Given the description of an element on the screen output the (x, y) to click on. 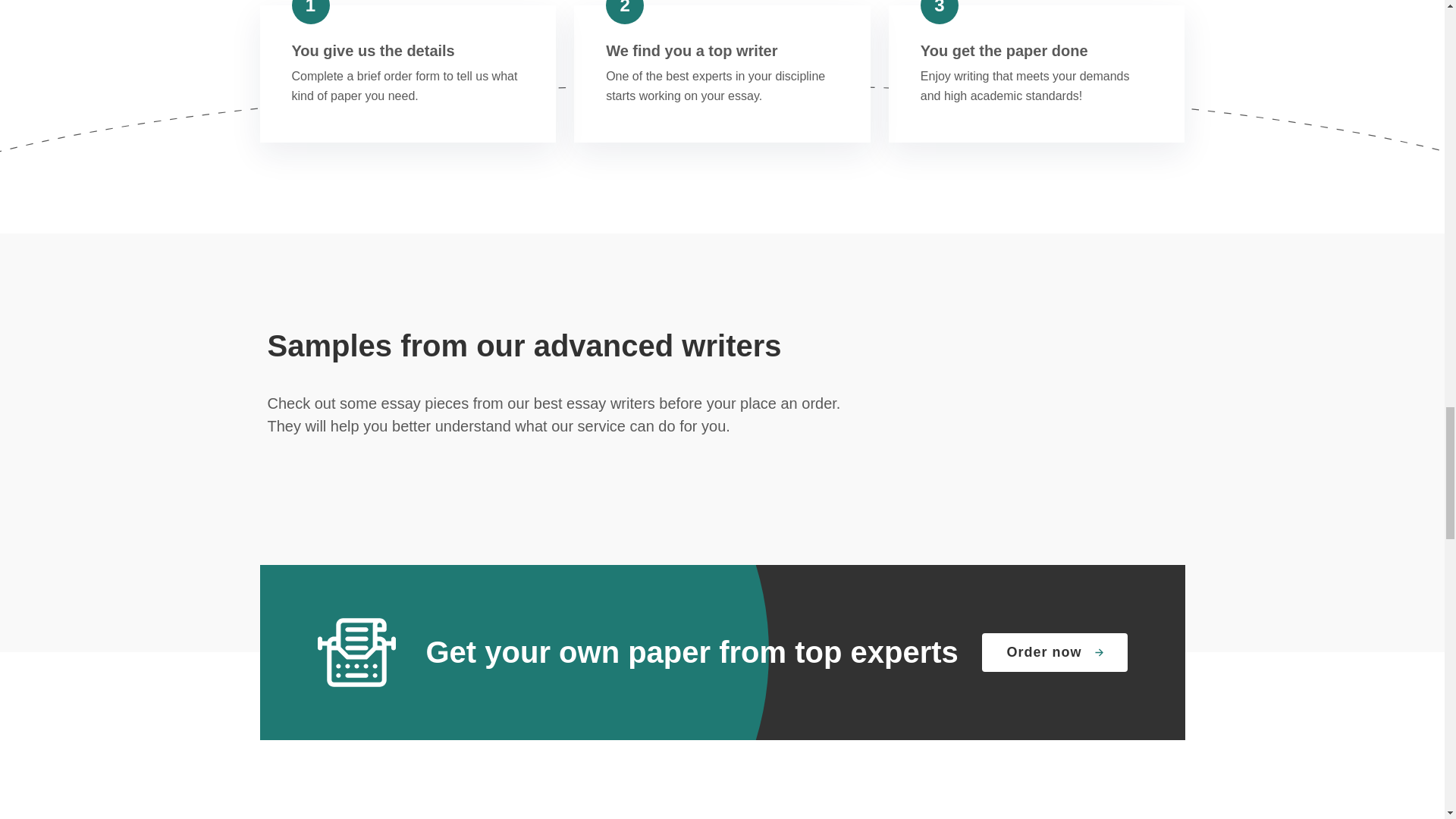
Order now (1053, 651)
